Given the description of an element on the screen output the (x, y) to click on. 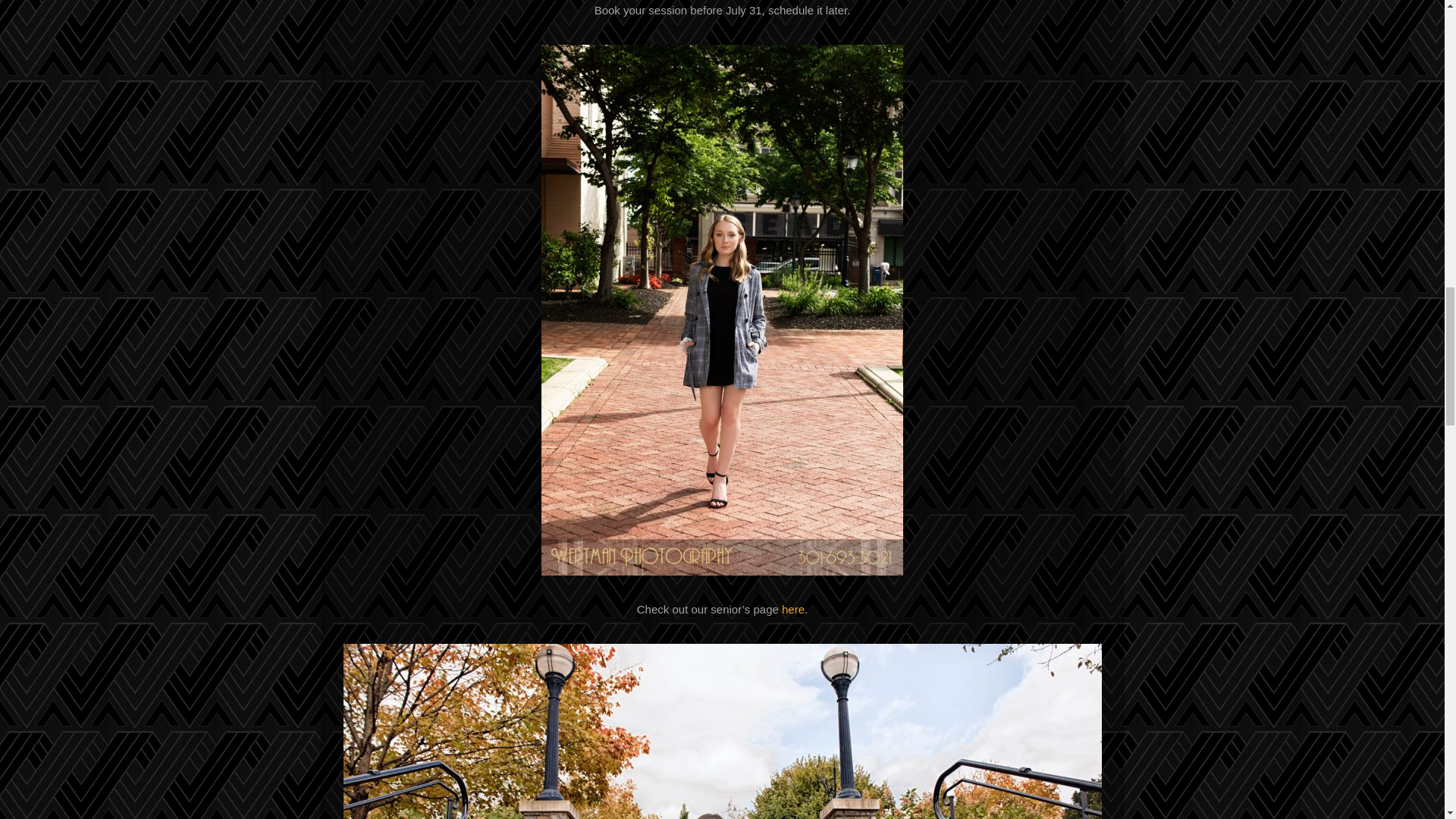
here (793, 608)
